Given the description of an element on the screen output the (x, y) to click on. 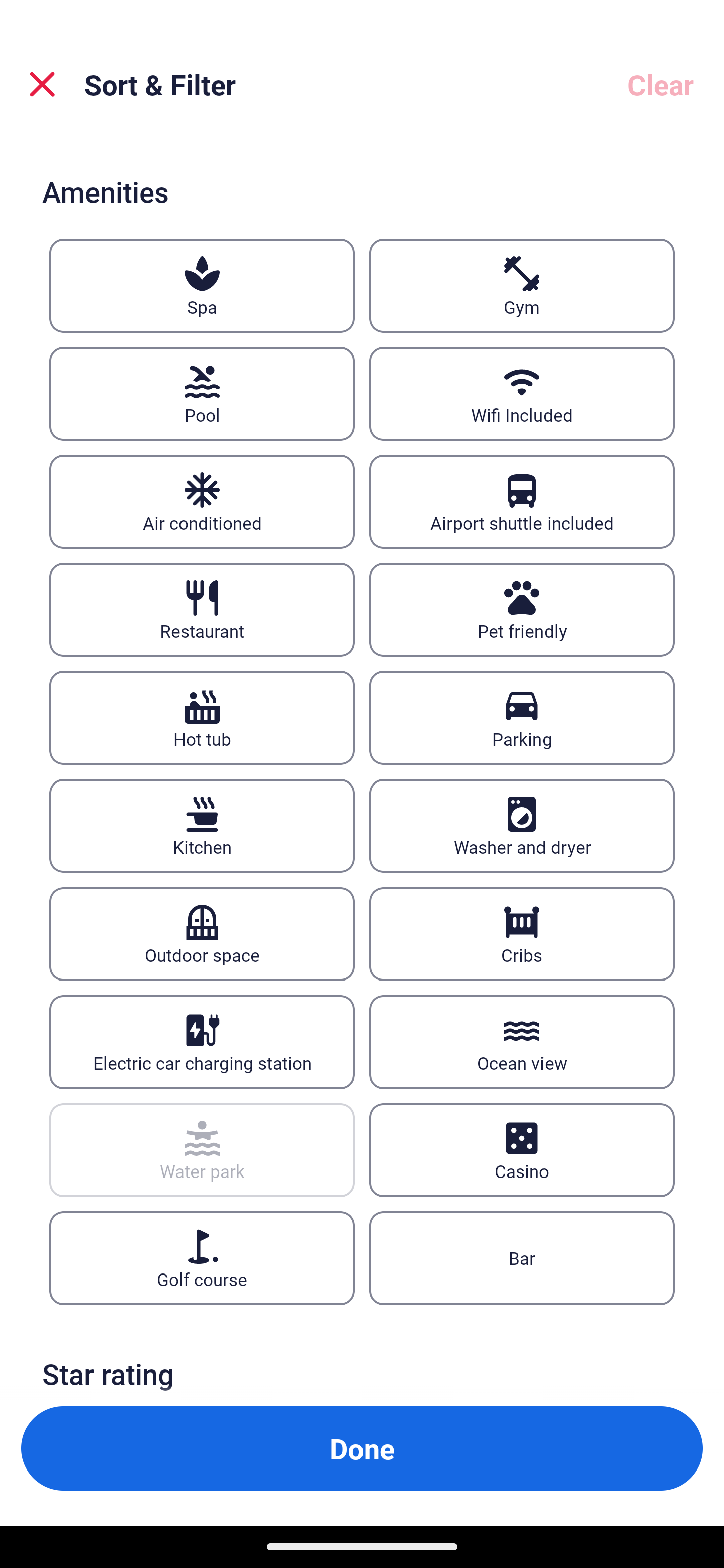
Close Sort and Filter (42, 84)
Clear (660, 84)
Spa (201, 285)
Gym (521, 285)
Pool (201, 393)
Wifi Included (521, 393)
Air conditioned (201, 501)
Airport shuttle included (521, 501)
Restaurant (201, 609)
Pet friendly (521, 609)
Hot tub (201, 718)
Parking (521, 718)
Kitchen (201, 826)
Washer and dryer (521, 826)
Outdoor space (201, 934)
Cribs (521, 934)
Electric car charging station (201, 1042)
Ocean view (521, 1042)
Water park (201, 1149)
Casino (521, 1149)
Golf course (201, 1257)
Bar (521, 1257)
Apply and close Sort and Filter Done (361, 1448)
